Given the description of an element on the screen output the (x, y) to click on. 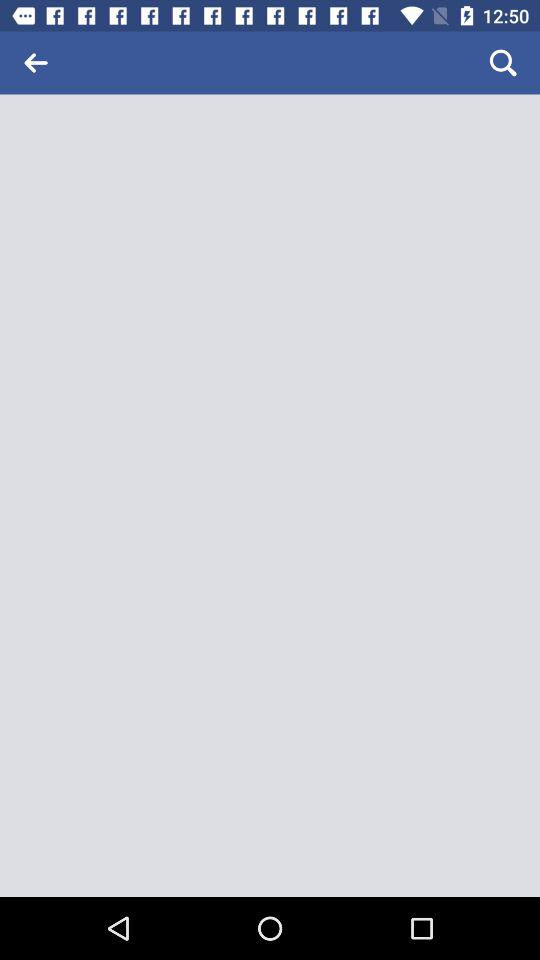
select the icon at the top right corner (503, 62)
